Given the description of an element on the screen output the (x, y) to click on. 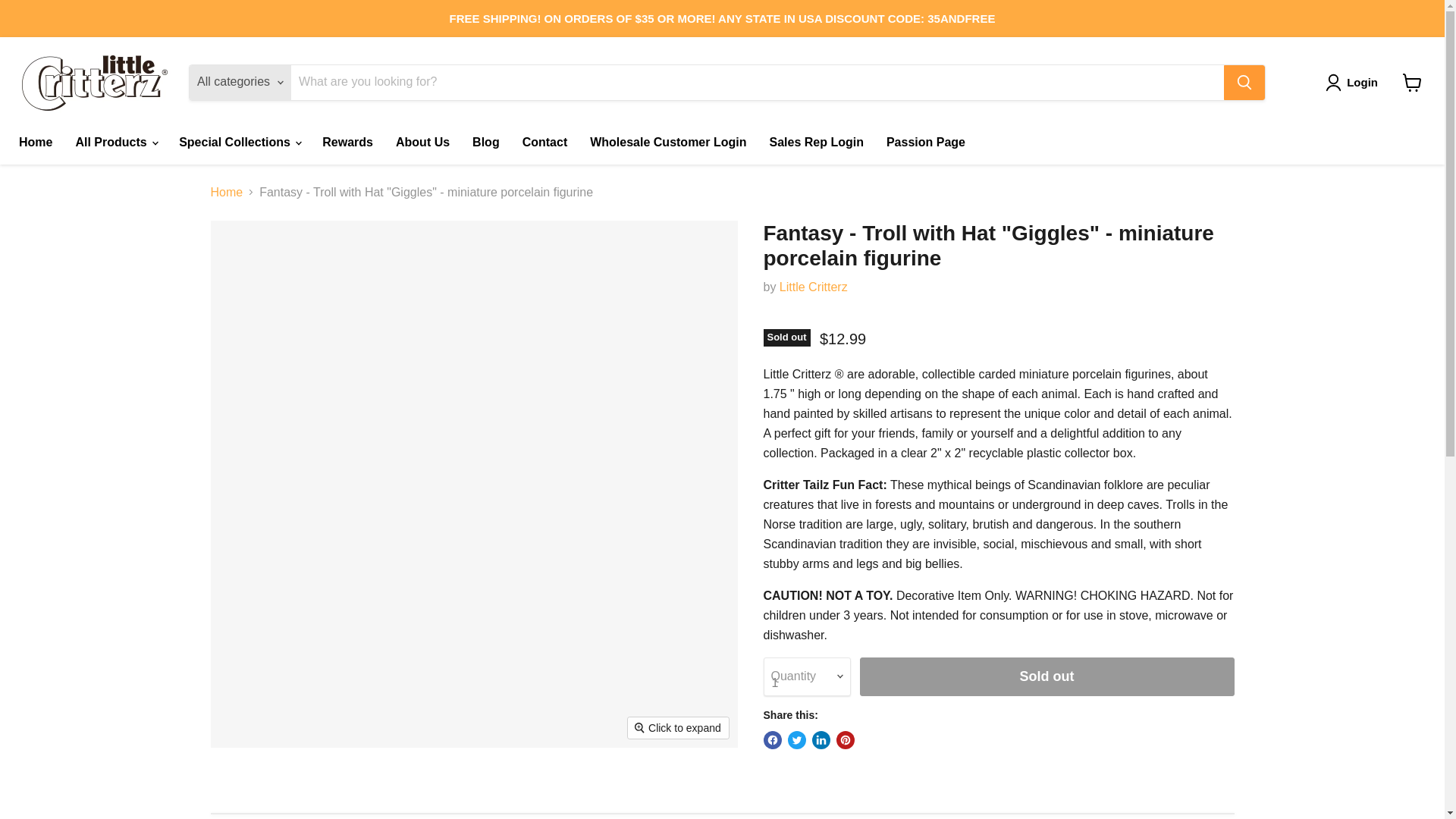
Sales Rep Login (816, 142)
Little Critterz (812, 286)
Contact (545, 142)
About Us (422, 142)
Passion Page (925, 142)
Login (1362, 82)
Home (35, 142)
Blog (486, 142)
View cart (1411, 81)
Rewards (347, 142)
Wholesale Customer Login (667, 142)
